Given the description of an element on the screen output the (x, y) to click on. 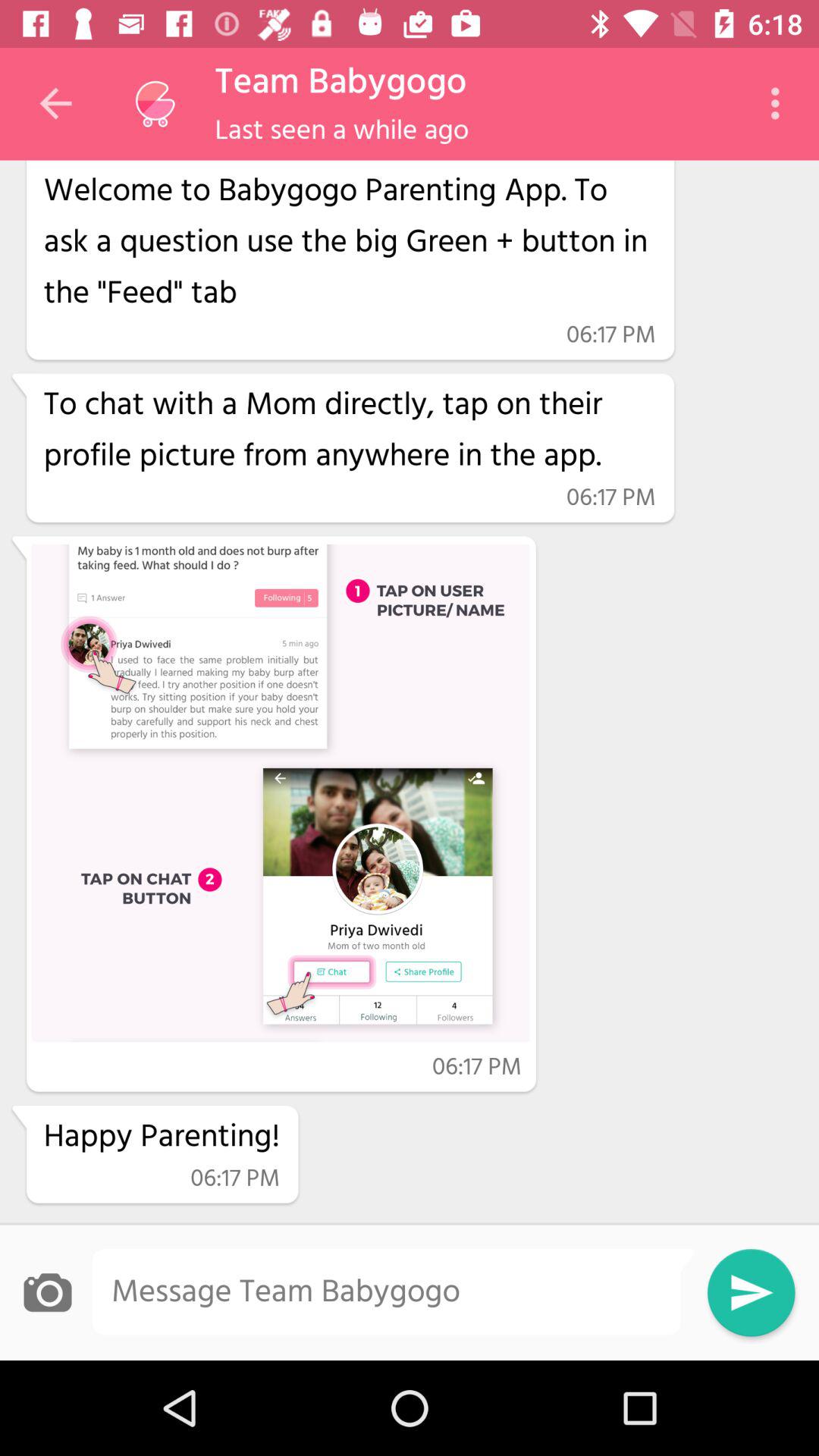
turn on the hi app crawler item (349, 238)
